Given the description of an element on the screen output the (x, y) to click on. 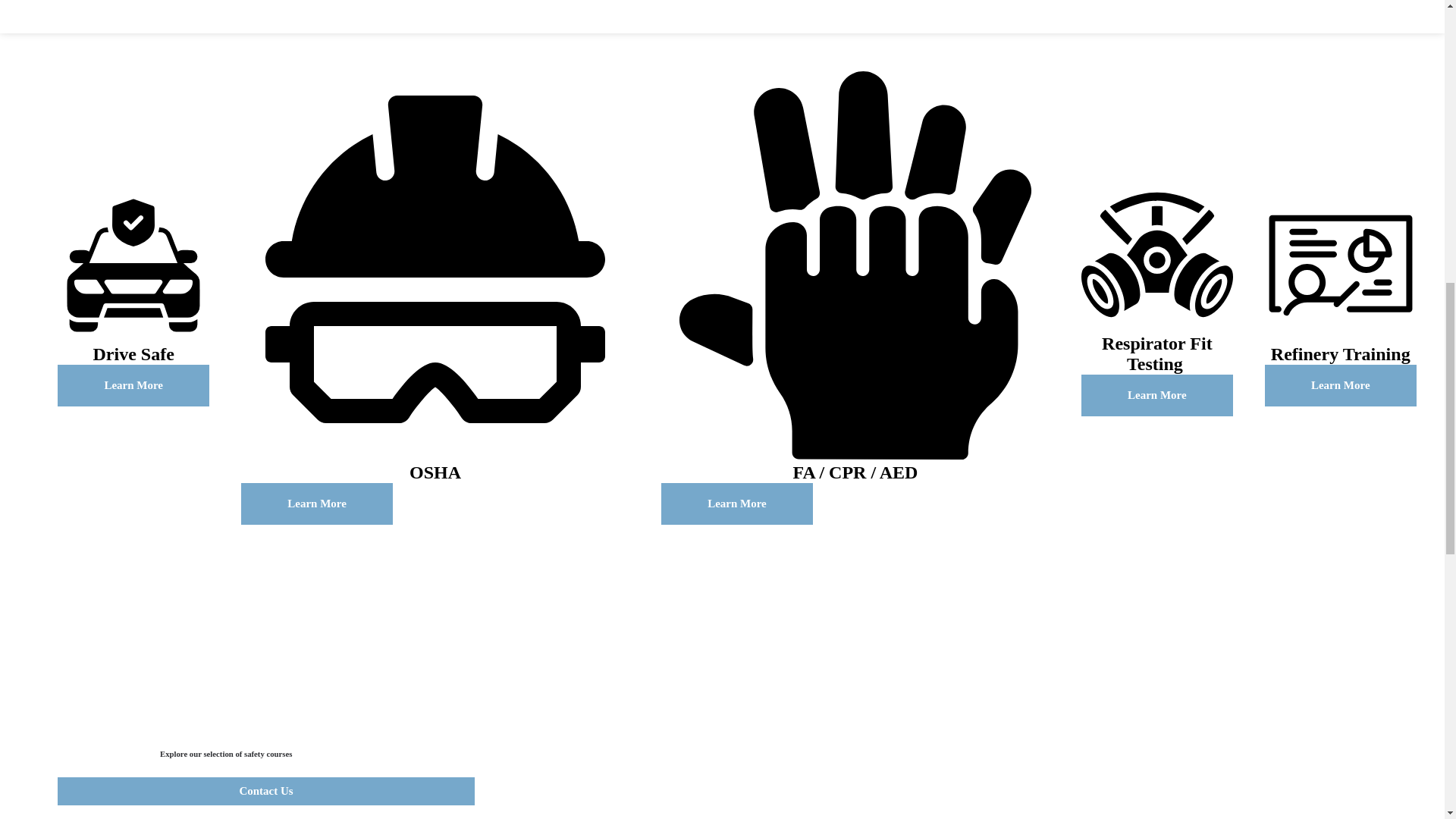
Learn More (133, 385)
Learn More (736, 503)
Learn More (317, 503)
Learn More (1340, 385)
